Given the description of an element on the screen output the (x, y) to click on. 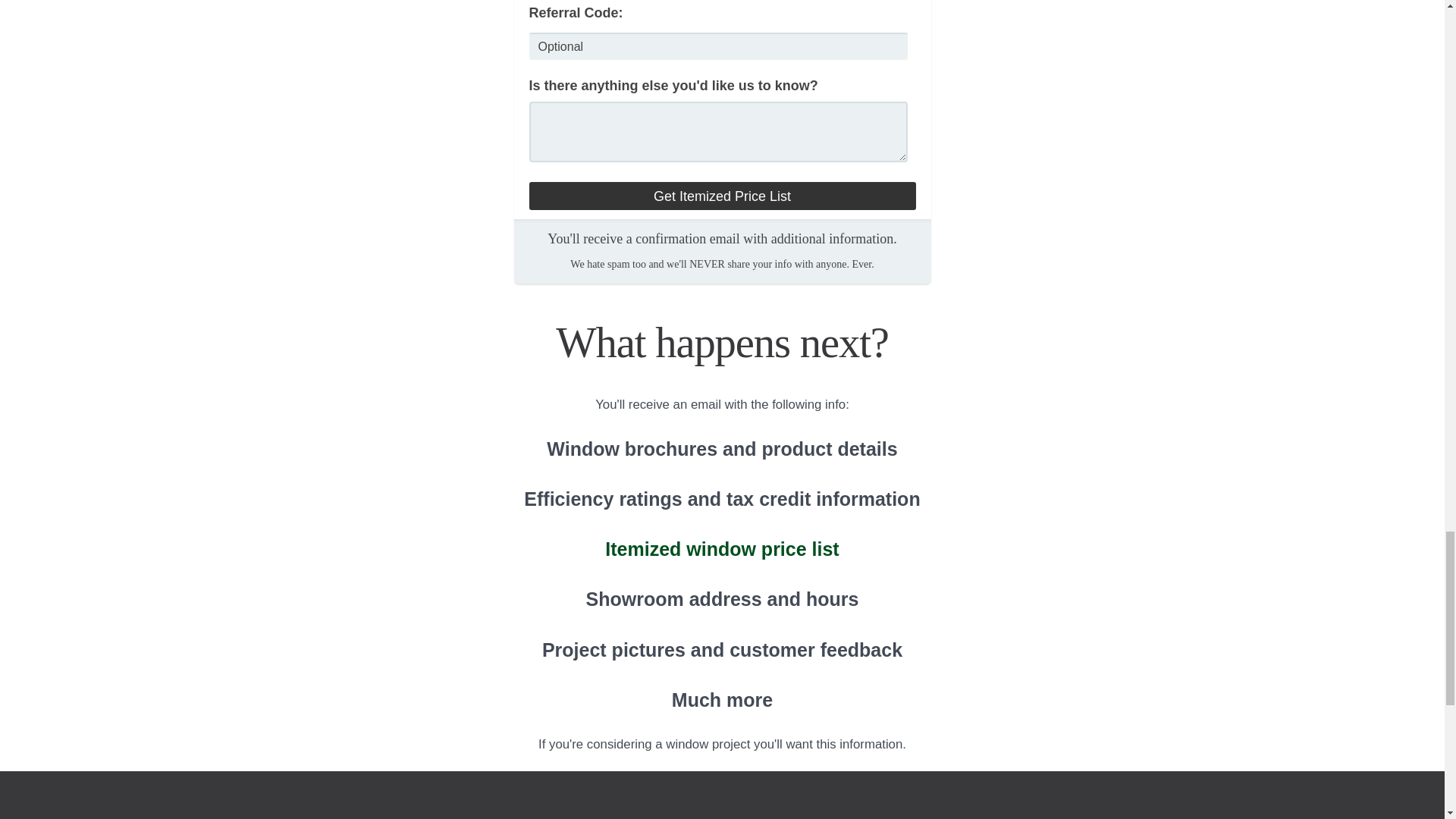
Get Itemized Price List (722, 195)
Optional (718, 45)
Get Itemized Price List (722, 195)
